Given the description of an element on the screen output the (x, y) to click on. 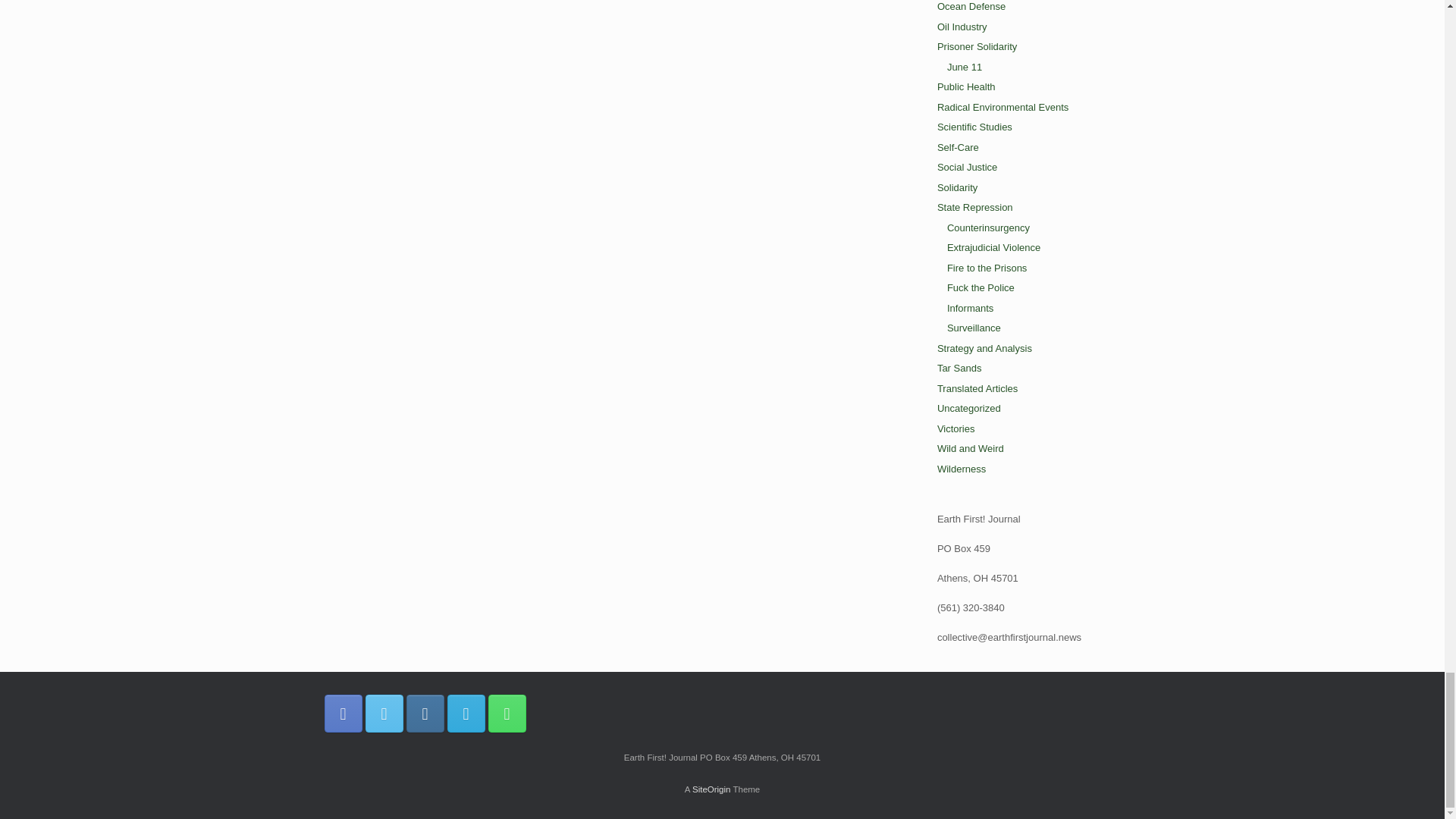
Earth First! Journal Instagram (425, 712)
Earth First! Journal Twitter (384, 712)
Earth First! Journal Phone (506, 712)
Earth First! Journal Email (465, 712)
Earth First! Journal Facebook (343, 712)
